Given the description of an element on the screen output the (x, y) to click on. 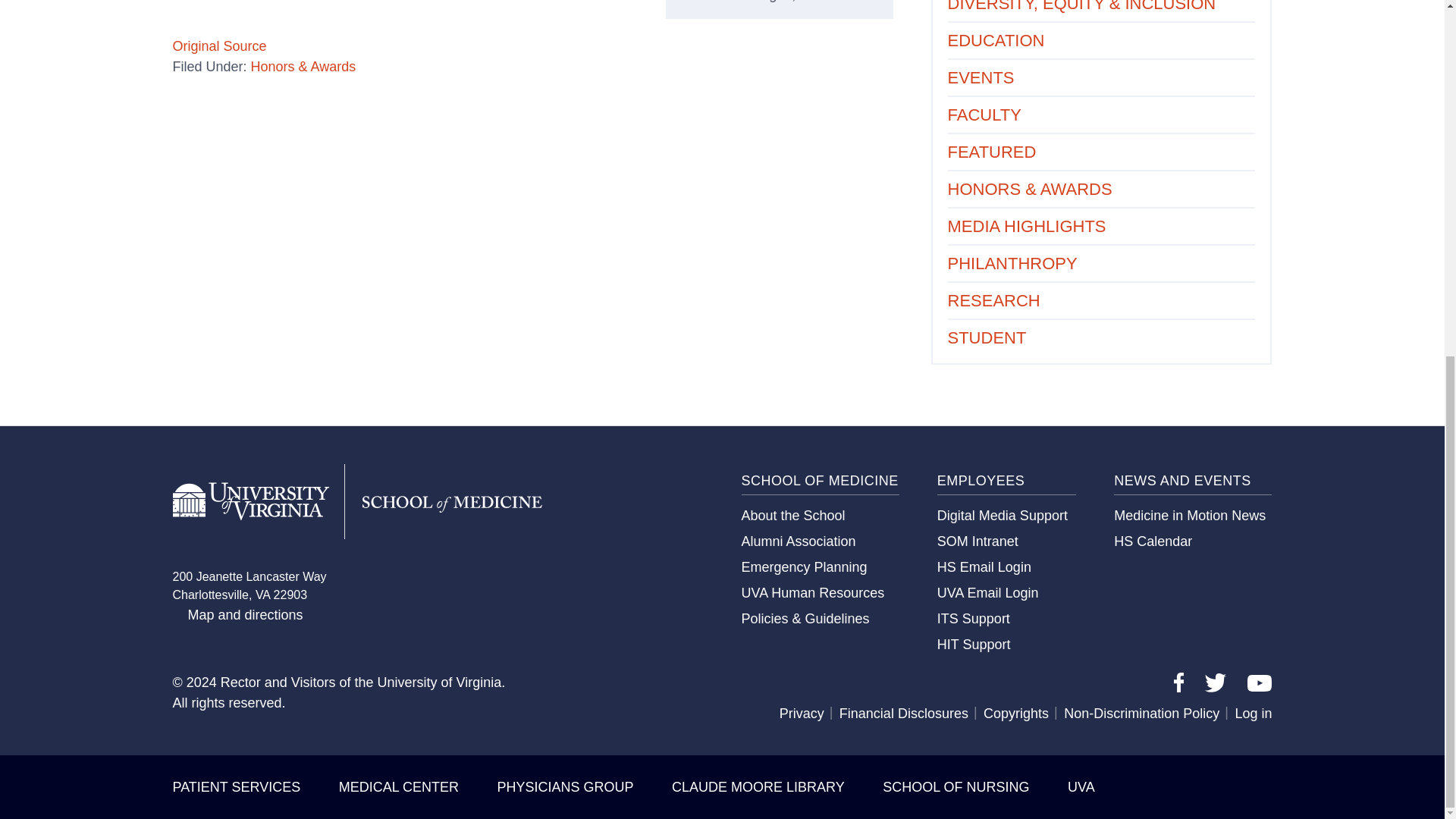
youtube (1259, 682)
twitter (1215, 682)
Twitter Profile (1215, 687)
